Given the description of an element on the screen output the (x, y) to click on. 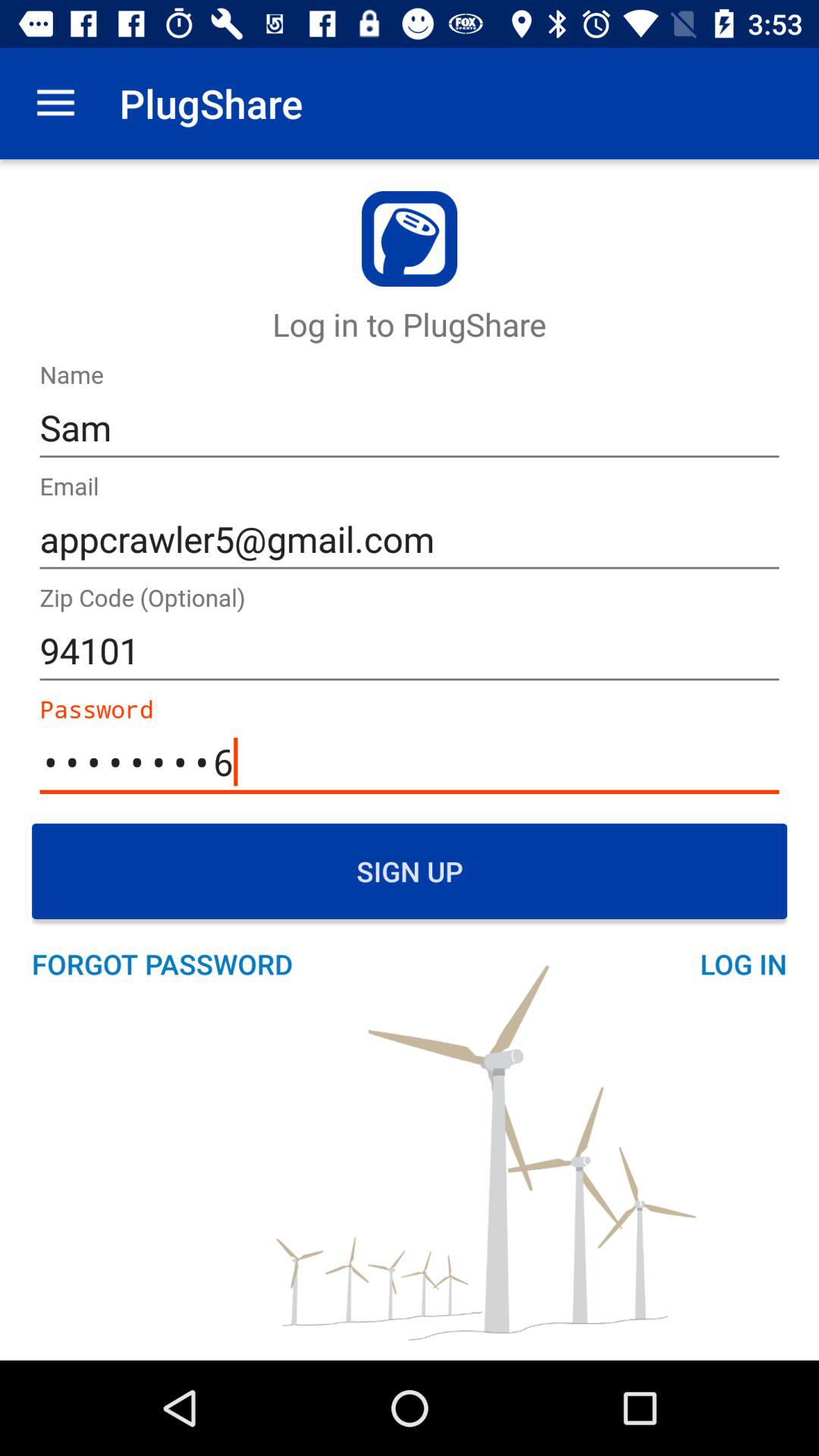
swipe until the forgot password (169, 963)
